Given the description of an element on the screen output the (x, y) to click on. 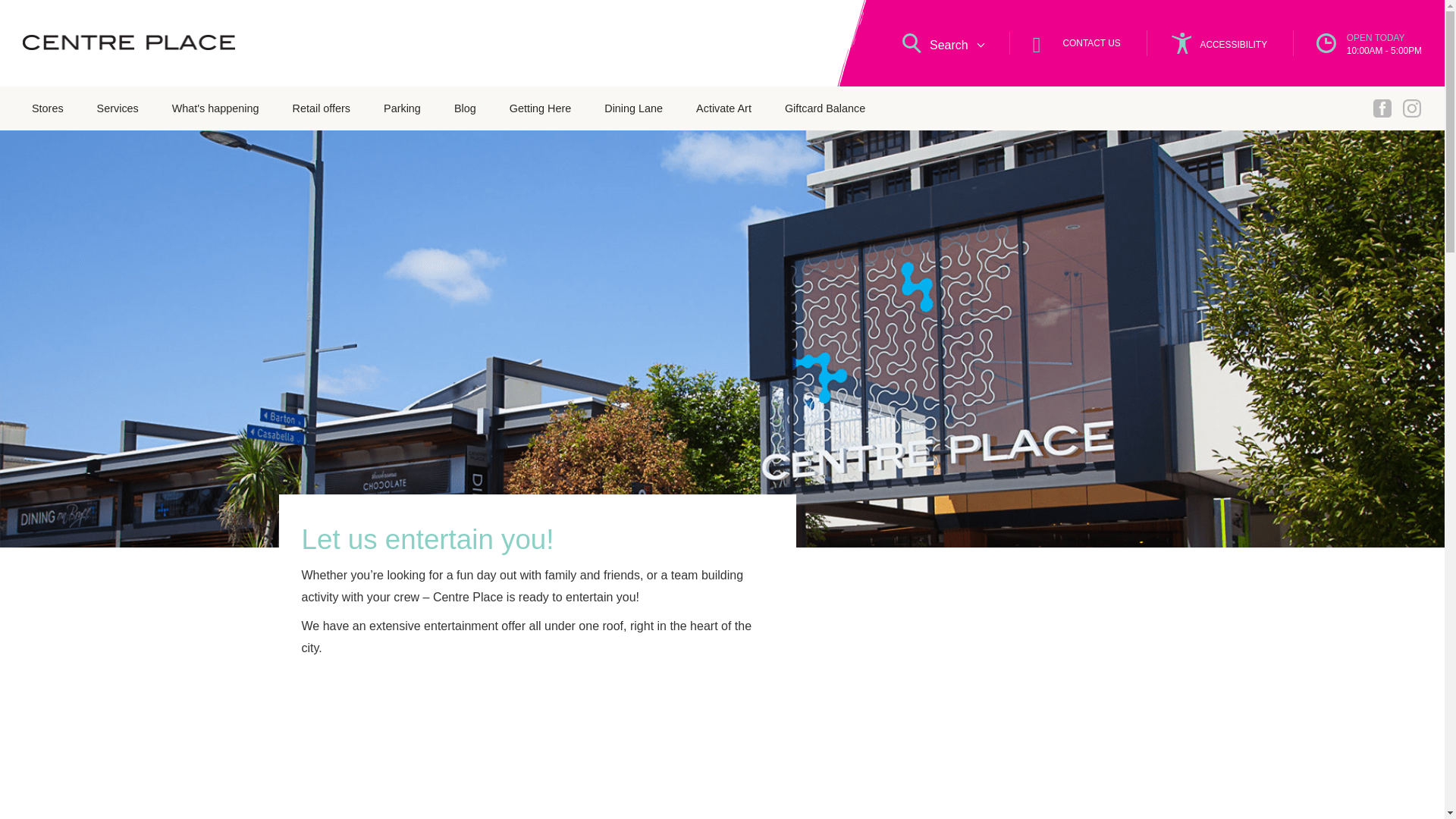
Search (935, 43)
Retail offers (322, 108)
Dining Lane (633, 108)
Parking (402, 108)
Giftcard Balance (825, 108)
ACCESSIBILITY (1357, 43)
Blog (1206, 43)
What's happening (465, 108)
Activate Art (215, 108)
CONTACT US (723, 108)
Stores (1065, 42)
Services (47, 108)
Getting Here (117, 108)
